Given the description of an element on the screen output the (x, y) to click on. 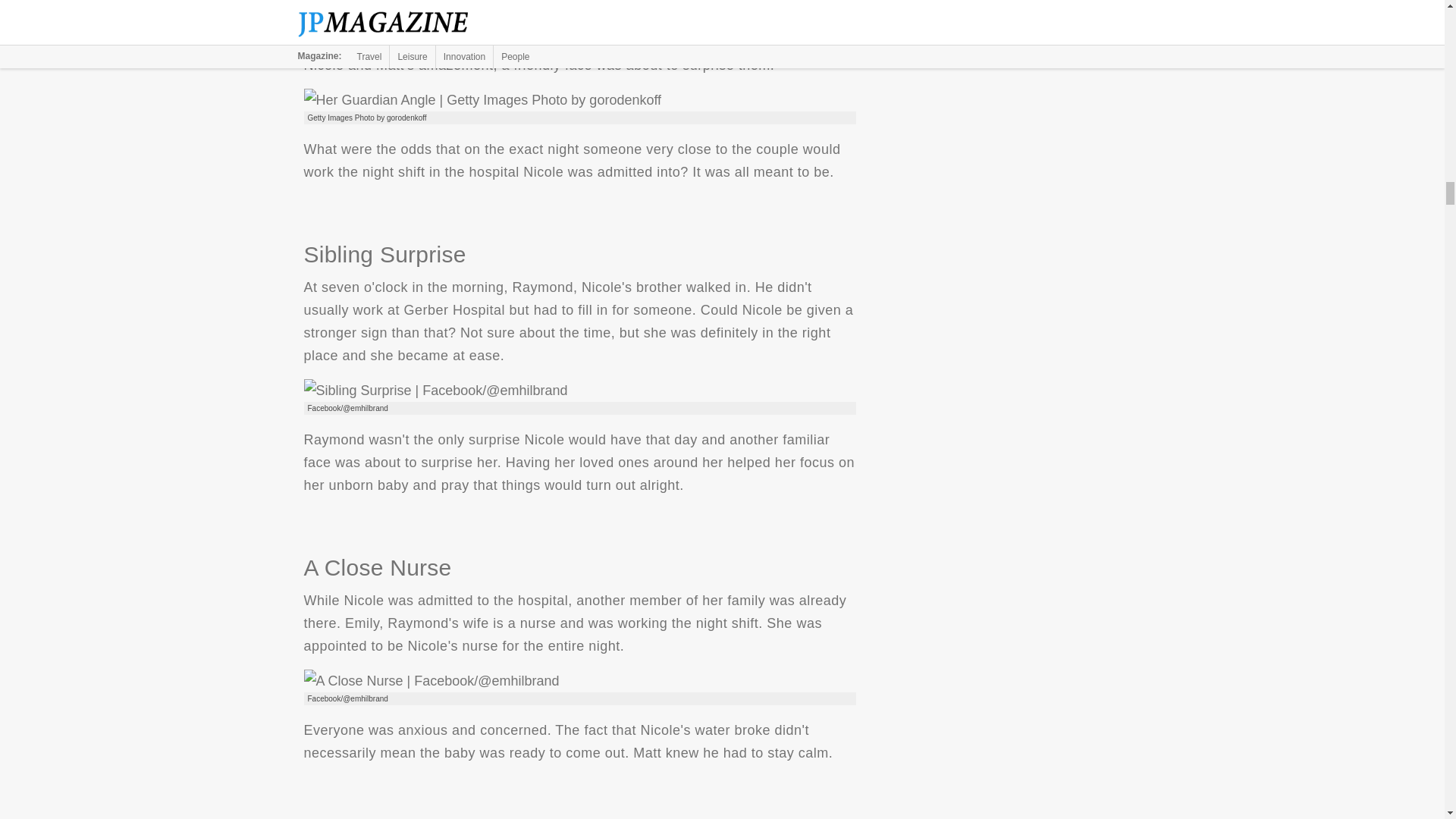
A Close Nurse (430, 680)
Sibling Surprise (434, 390)
Her Guardian Angle (481, 99)
